Given the description of an element on the screen output the (x, y) to click on. 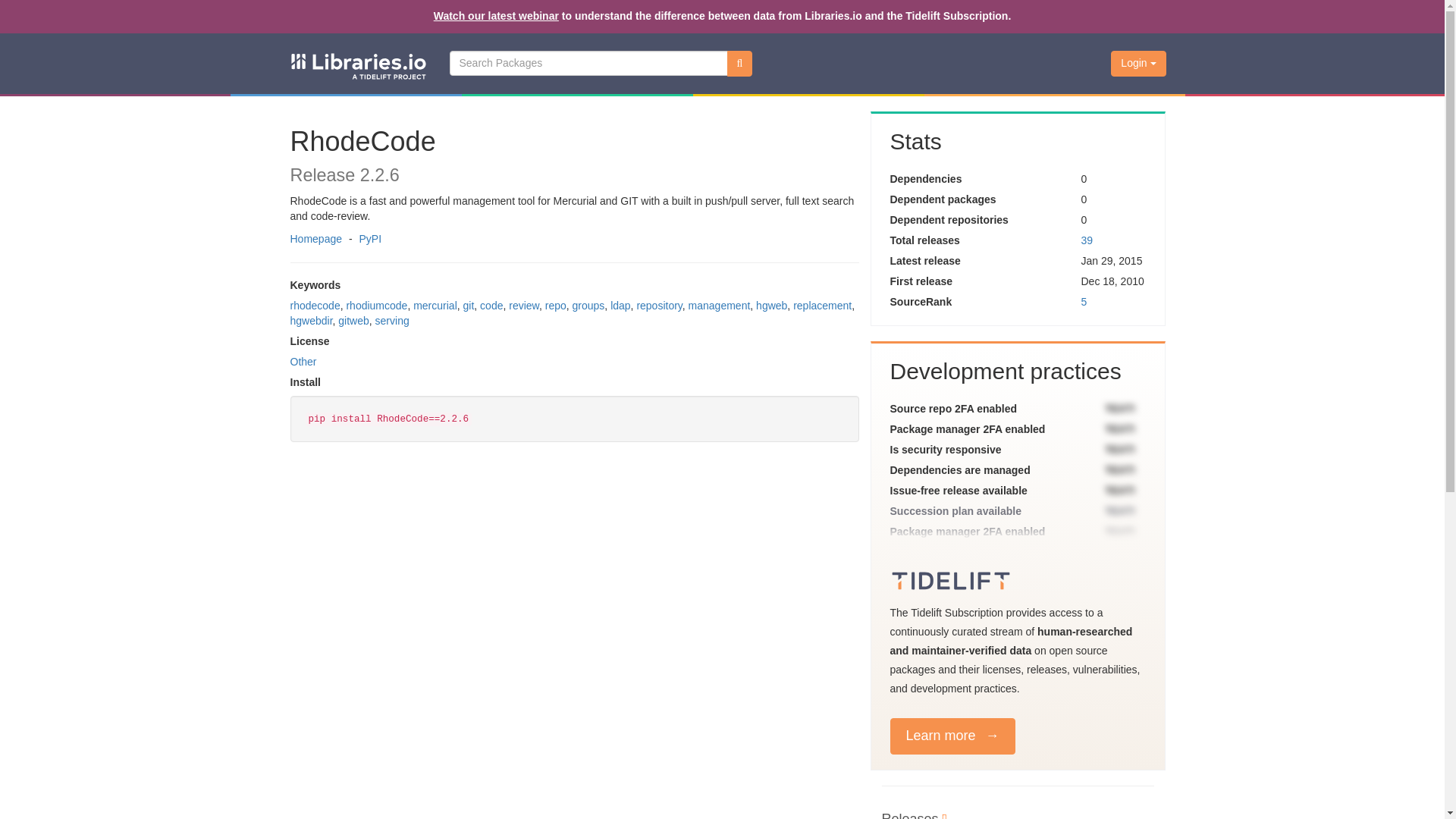
git (468, 305)
rhodecode (314, 305)
Login (1138, 63)
mercurial (435, 305)
management (719, 305)
hgwebdir (310, 320)
groups (588, 305)
replacement (822, 305)
Watch our latest webinar (496, 15)
Other (302, 361)
